Given the description of an element on the screen output the (x, y) to click on. 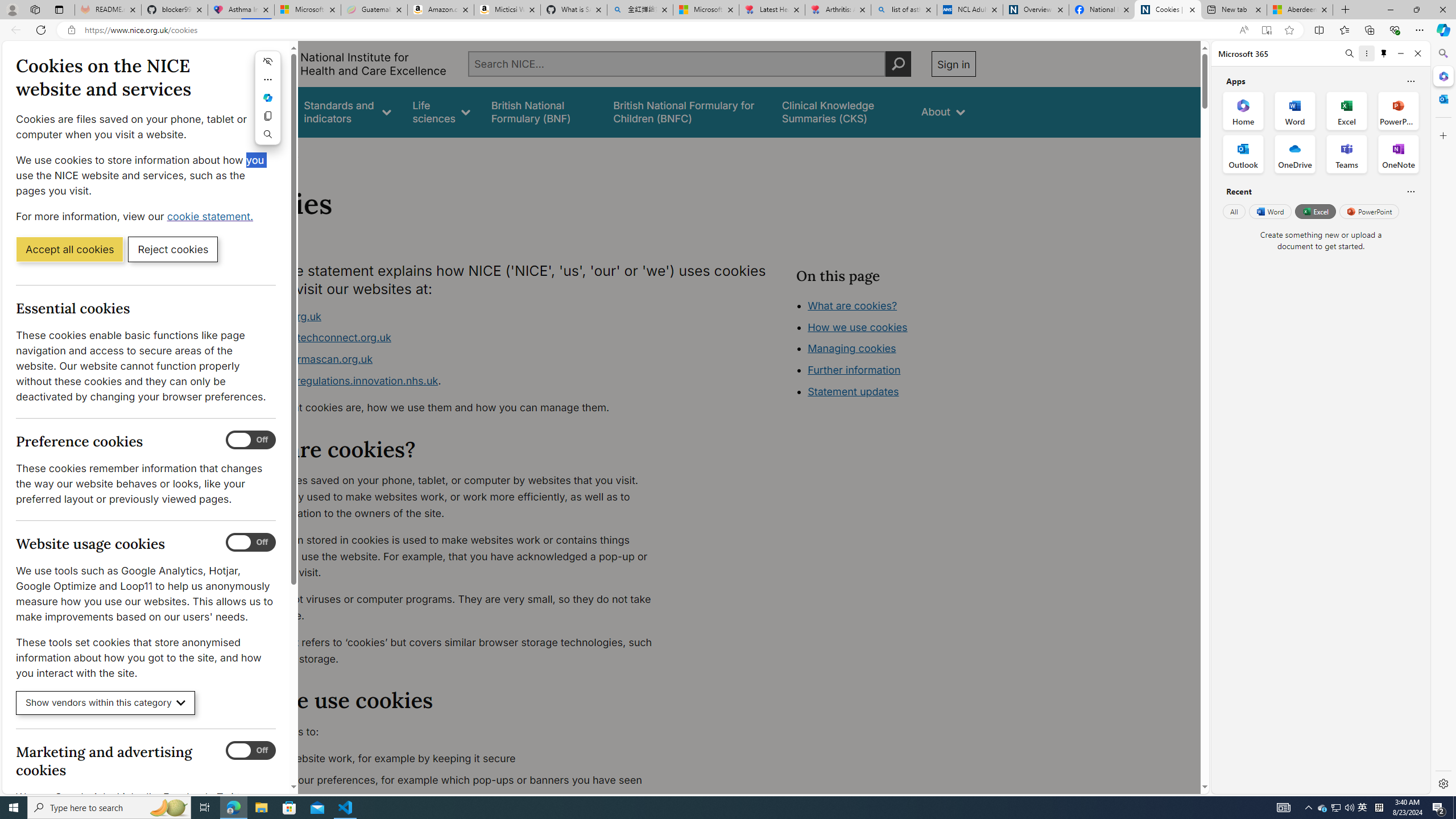
www.ukpharmascan.org.uk (452, 359)
OneDrive Office App (1295, 154)
Outlook Office App (1243, 154)
Excel Office App (1346, 110)
www.ukpharmascan.org.uk (305, 359)
OneNote Office App (1398, 154)
Arthritis: Ask Health Professionals (838, 9)
